Given the description of an element on the screen output the (x, y) to click on. 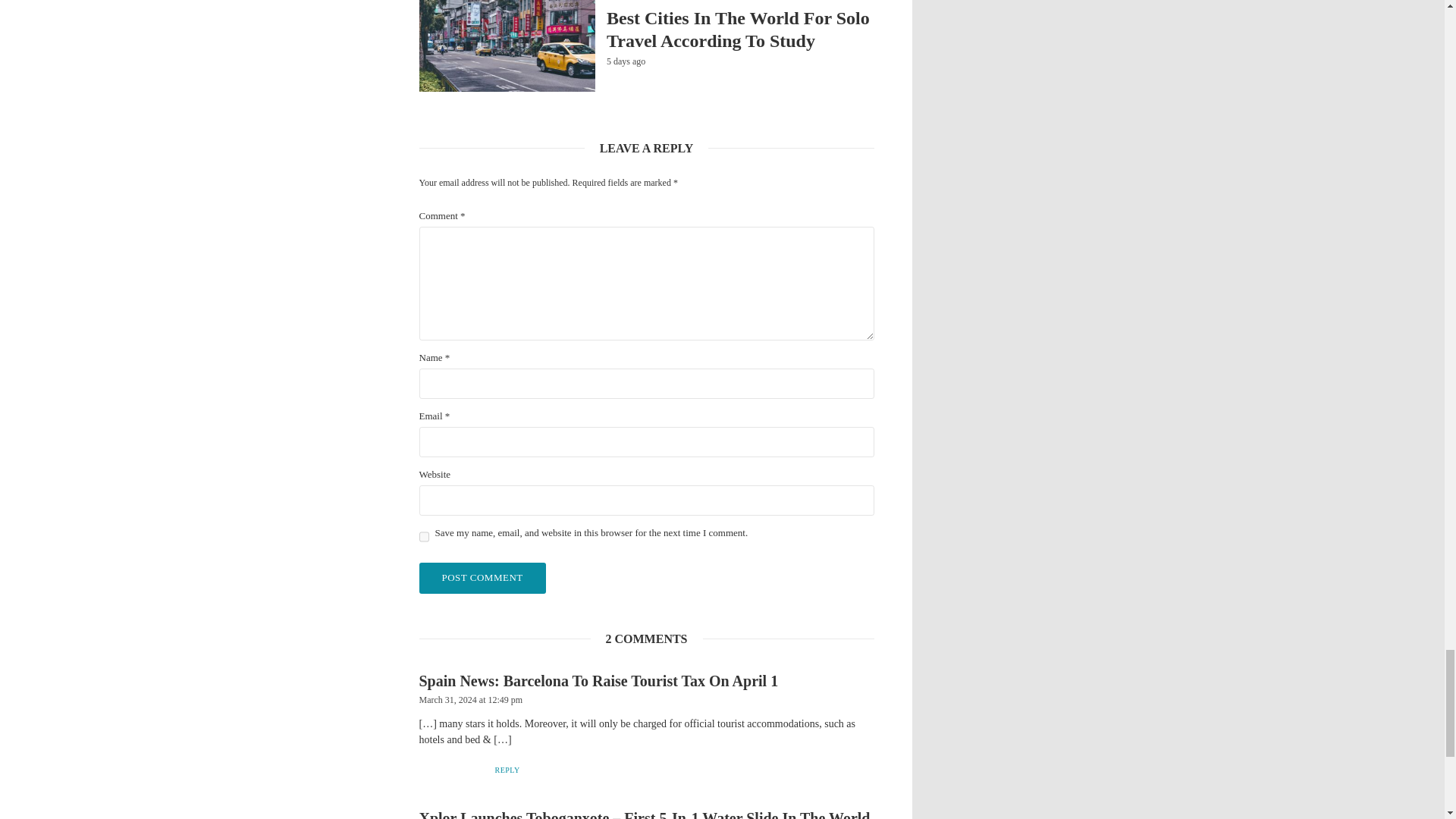
Post Comment (481, 577)
